Given the description of an element on the screen output the (x, y) to click on. 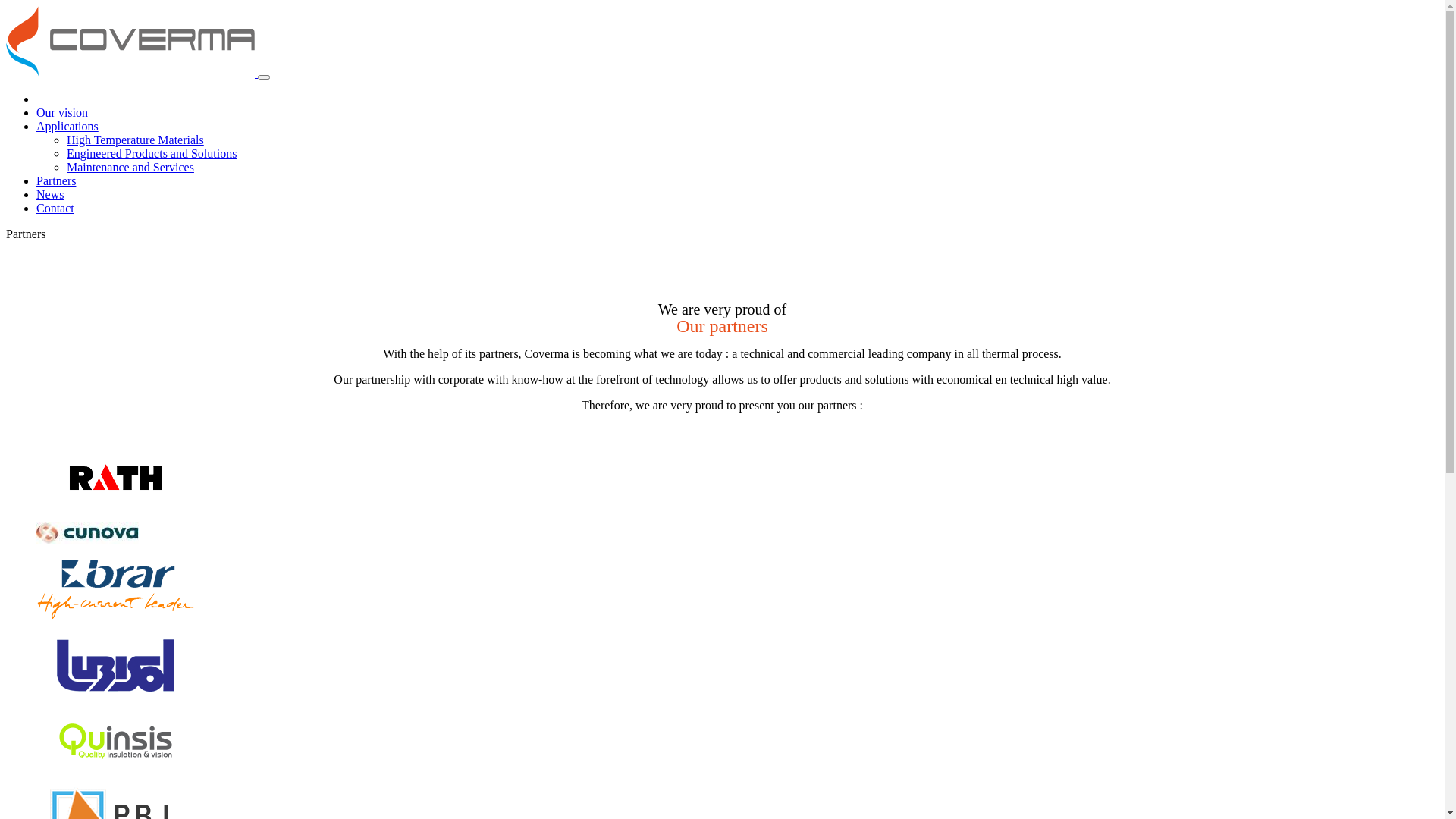
Applications Element type: text (67, 125)
Contact Element type: text (55, 207)
Partners Element type: text (55, 180)
High Temperature Materials Element type: text (134, 139)
Our vision Element type: text (61, 112)
Engineered Products and Solutions Element type: text (151, 153)
News Element type: text (49, 194)
Maintenance and Services Element type: text (130, 166)
